Given the description of an element on the screen output the (x, y) to click on. 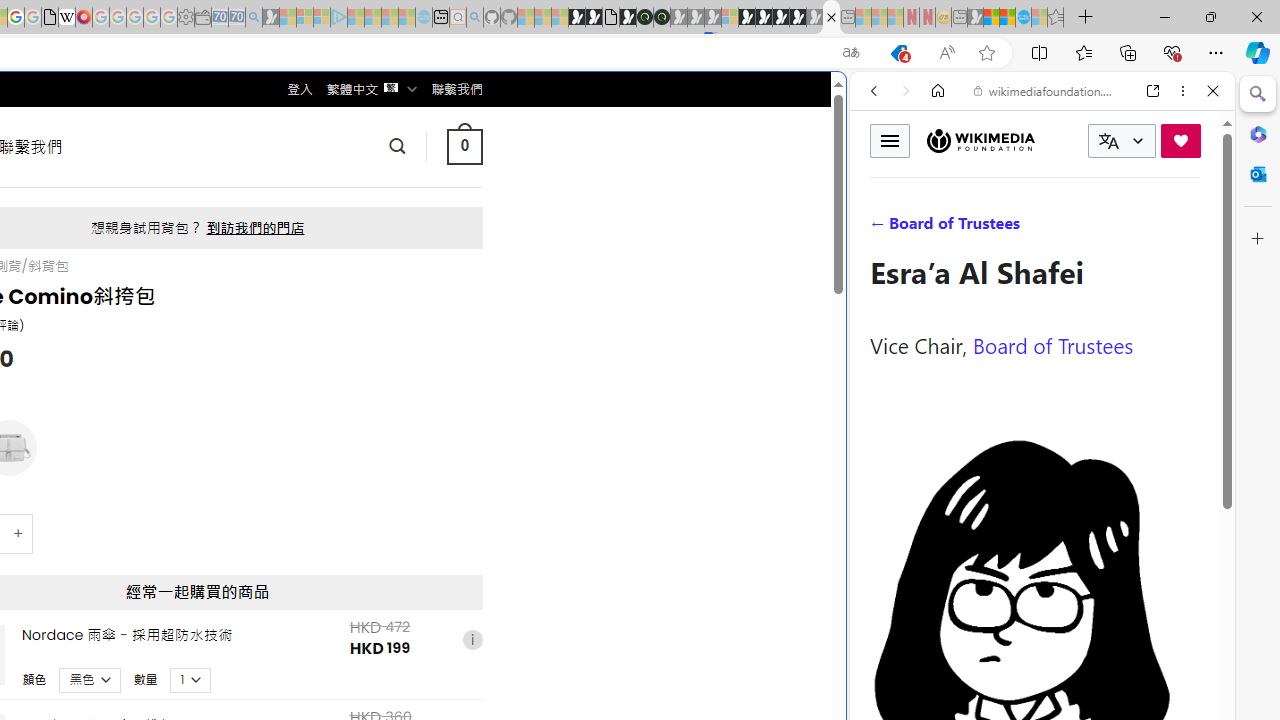
Play Zoo Boom in your browser | Games from Microsoft Start (593, 17)
Tabs you've opened (276, 265)
Show translate options (850, 53)
Favorites - Sleeping (1055, 17)
